Given the description of an element on the screen output the (x, y) to click on. 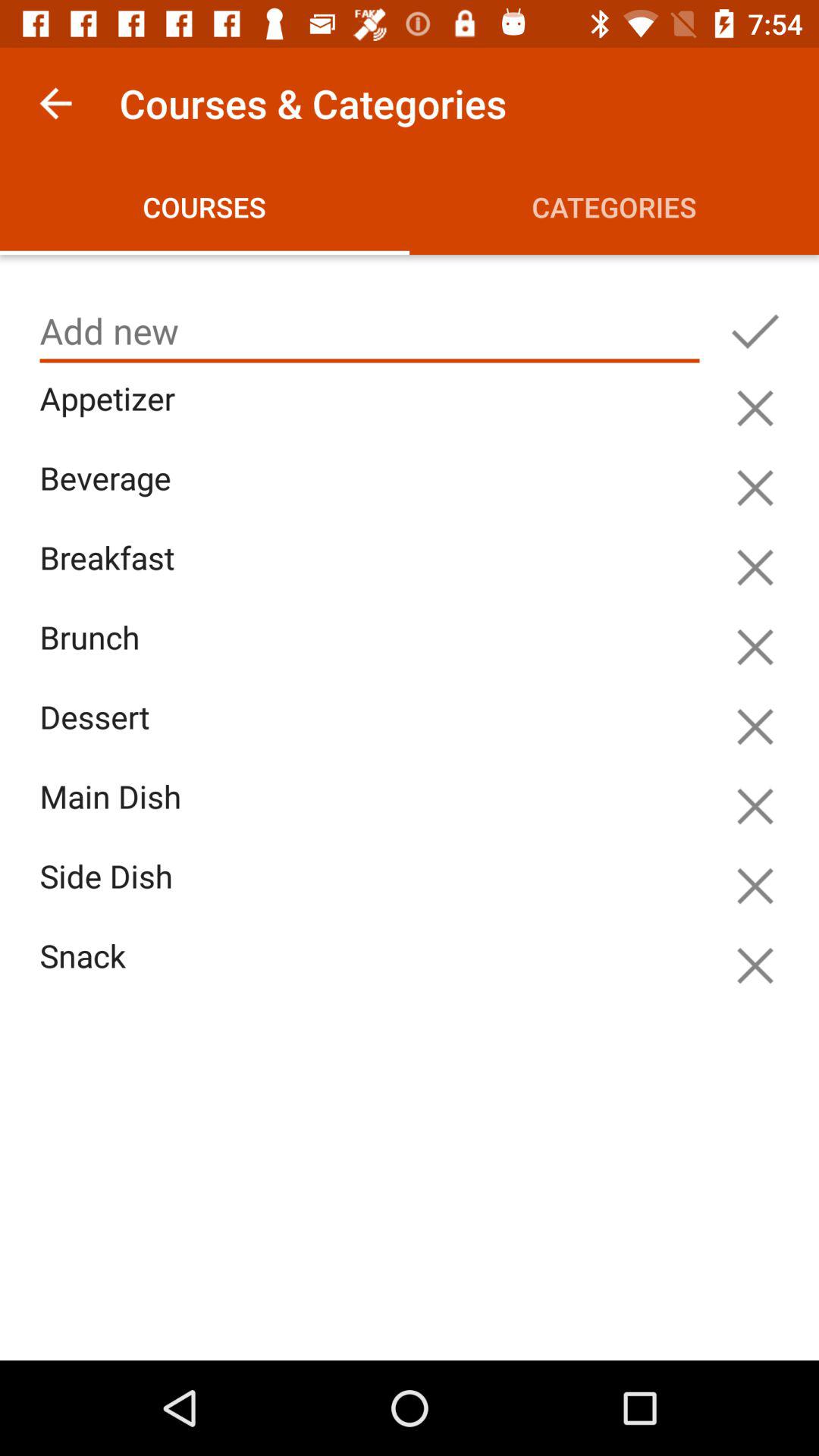
what to add (369, 331)
